Given the description of an element on the screen output the (x, y) to click on. 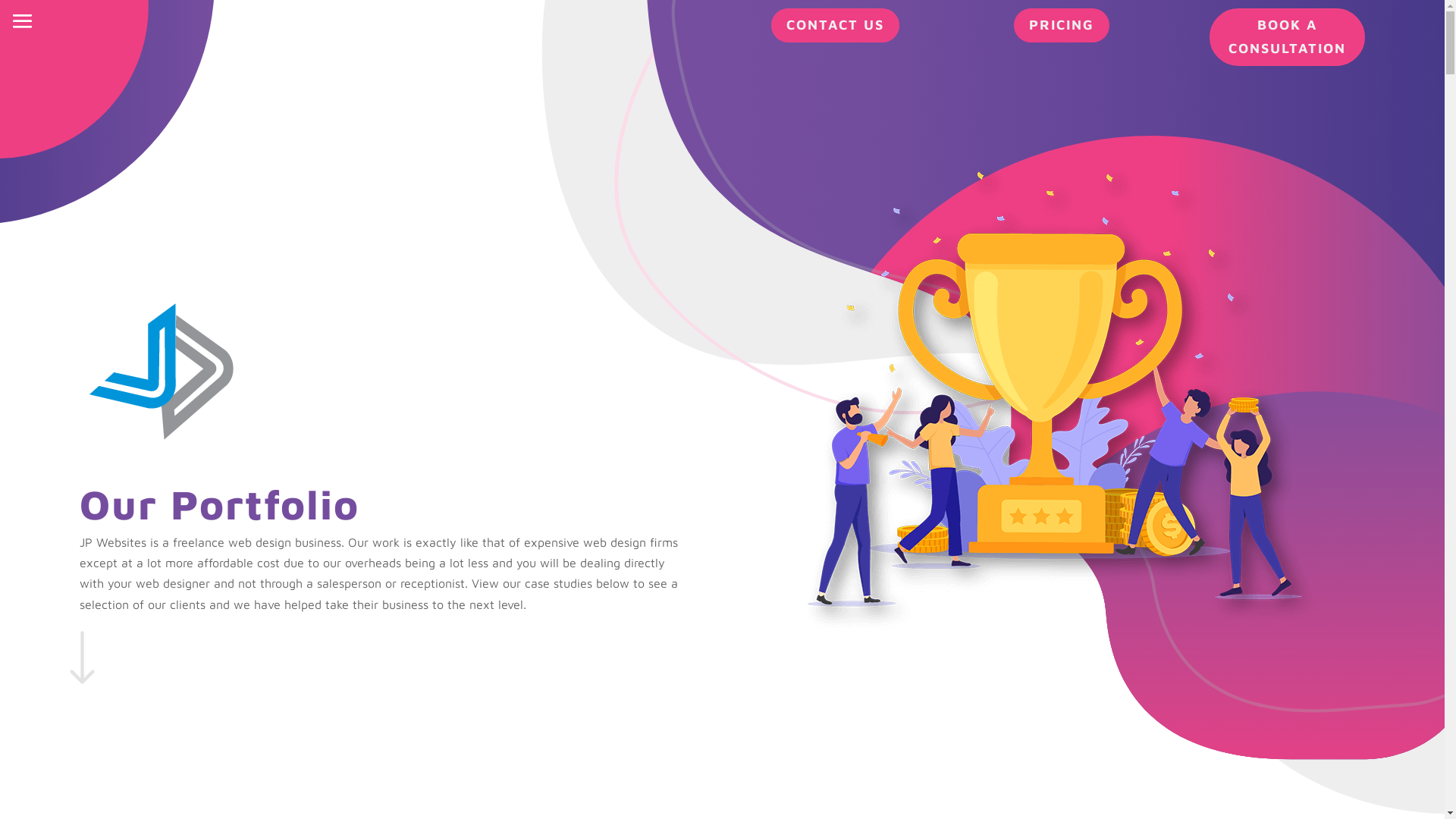
PRICING Element type: text (1061, 25)
CONTACT US Element type: text (835, 25)
jp-logo-draft Element type: hover (163, 372)
BOOK A CONSULTATION Element type: text (1287, 36)
